Given the description of an element on the screen output the (x, y) to click on. 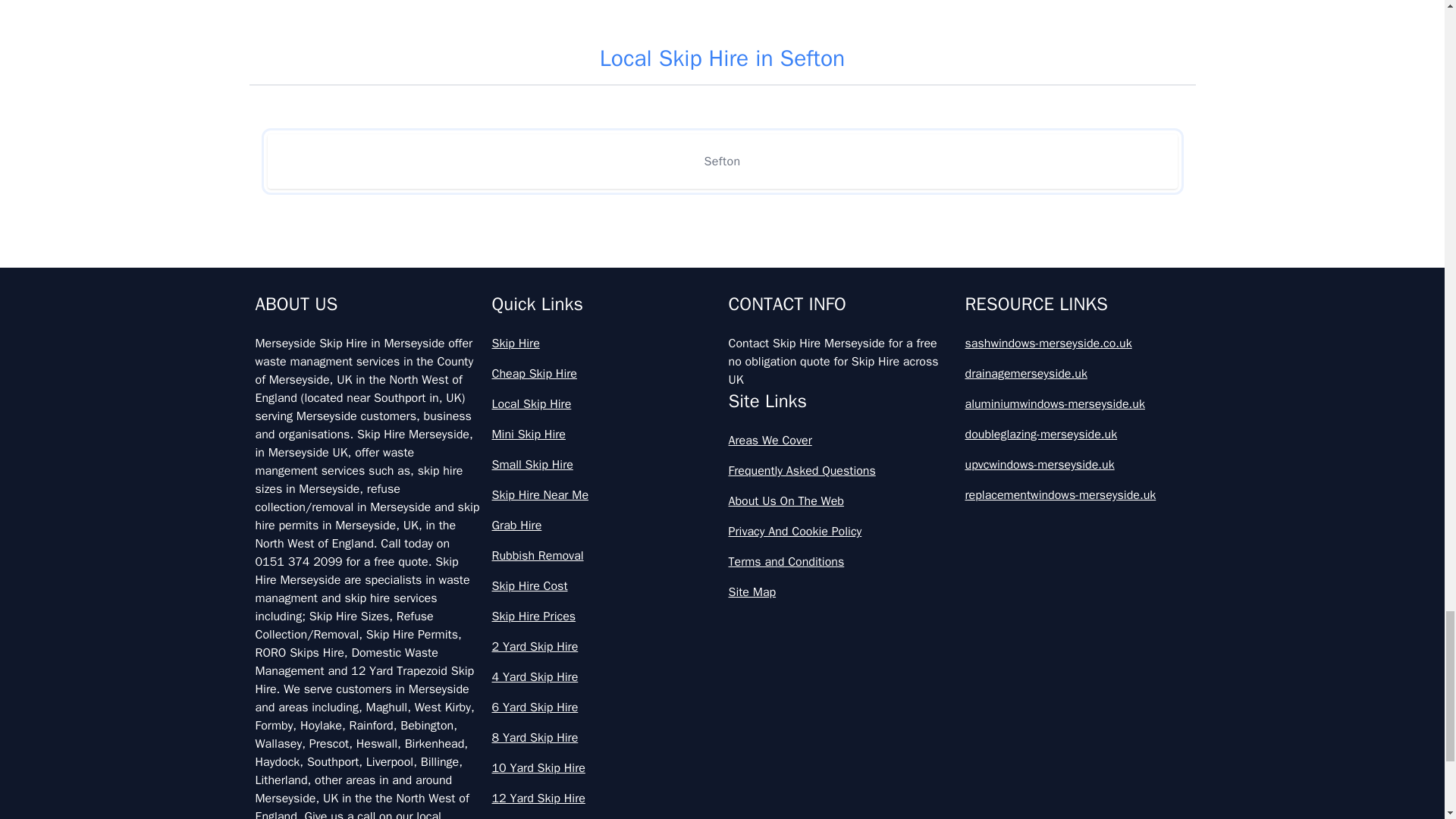
aluminiumwindows-merseyside.uk (1076, 403)
Skip Hire Cost (604, 586)
Local Skip Hire (604, 403)
replacementwindows-merseyside.uk (1076, 495)
Site Map (840, 592)
Rubbish Removal (604, 556)
upvcwindows-merseyside.uk (1076, 464)
Small Skip Hire (604, 464)
Skip Hire Near Me (604, 495)
Skip Hire (604, 343)
Cheap Skip Hire (604, 373)
sashwindows-merseyside.co.uk (1076, 343)
Sefton (721, 161)
Grab Hire (604, 525)
doubleglazing-merseyside.uk (1076, 434)
